Given the description of an element on the screen output the (x, y) to click on. 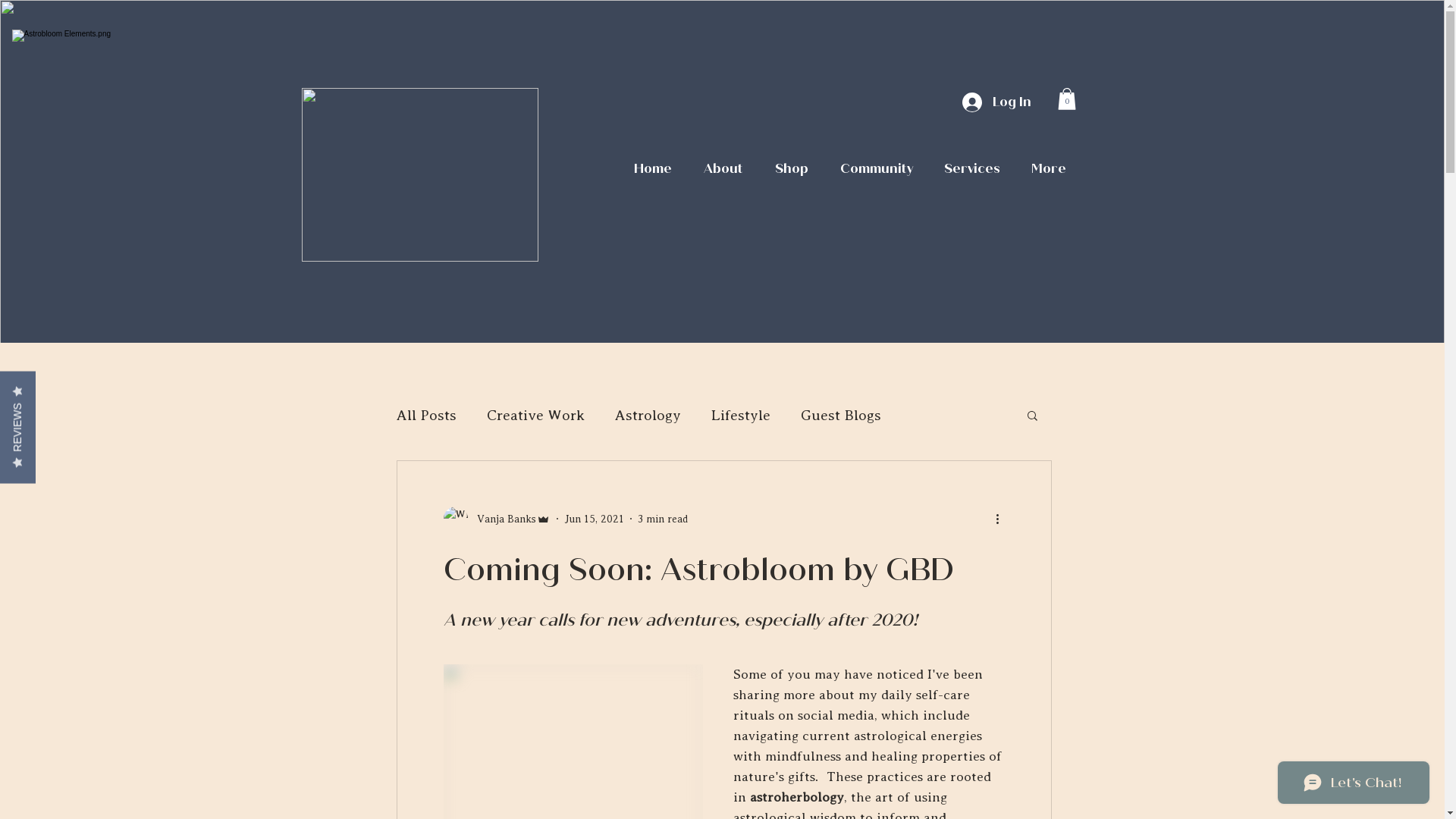
Creative Work Element type: text (535, 414)
Services Element type: text (971, 168)
Community Element type: text (875, 168)
 REVIEWS  Element type: text (56, 388)
0 Element type: text (1066, 98)
Shop Element type: text (790, 168)
Vanja Banks Element type: text (495, 518)
All Posts Element type: text (425, 414)
Guest Blogs Element type: text (840, 414)
About Element type: text (722, 168)
Astrology Element type: text (647, 414)
Log In Element type: text (995, 101)
Home Element type: text (652, 168)
Lifestyle Element type: text (740, 414)
